Given the description of an element on the screen output the (x, y) to click on. 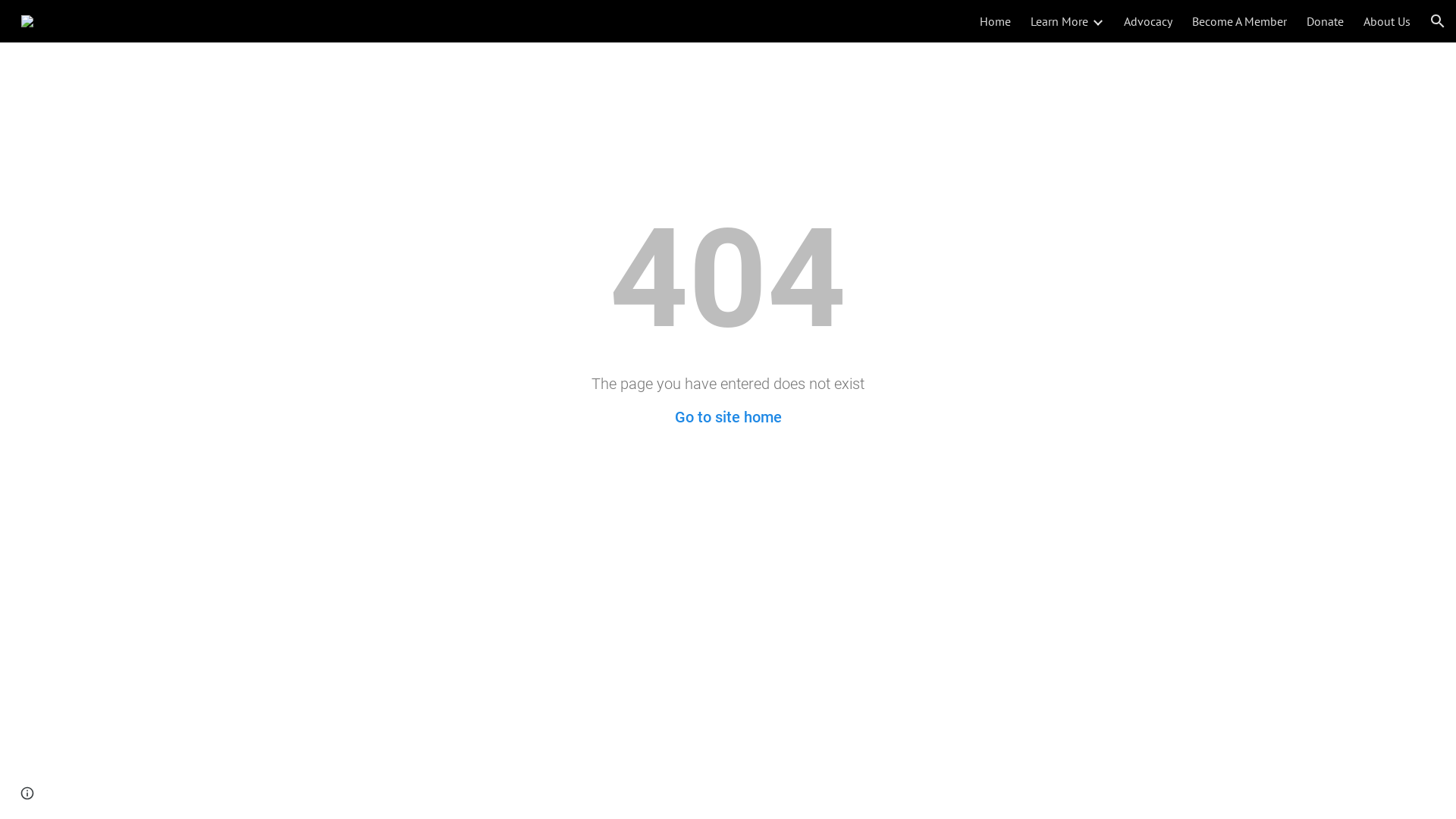
About Us Element type: text (1386, 20)
Learn More Element type: text (1059, 20)
Home Element type: text (994, 20)
Become A Member Element type: text (1239, 20)
Donate Element type: text (1324, 20)
Go to site home Element type: text (727, 416)
Advocacy Element type: text (1147, 20)
Expand/Collapse Element type: hover (1097, 20)
